Given the description of an element on the screen output the (x, y) to click on. 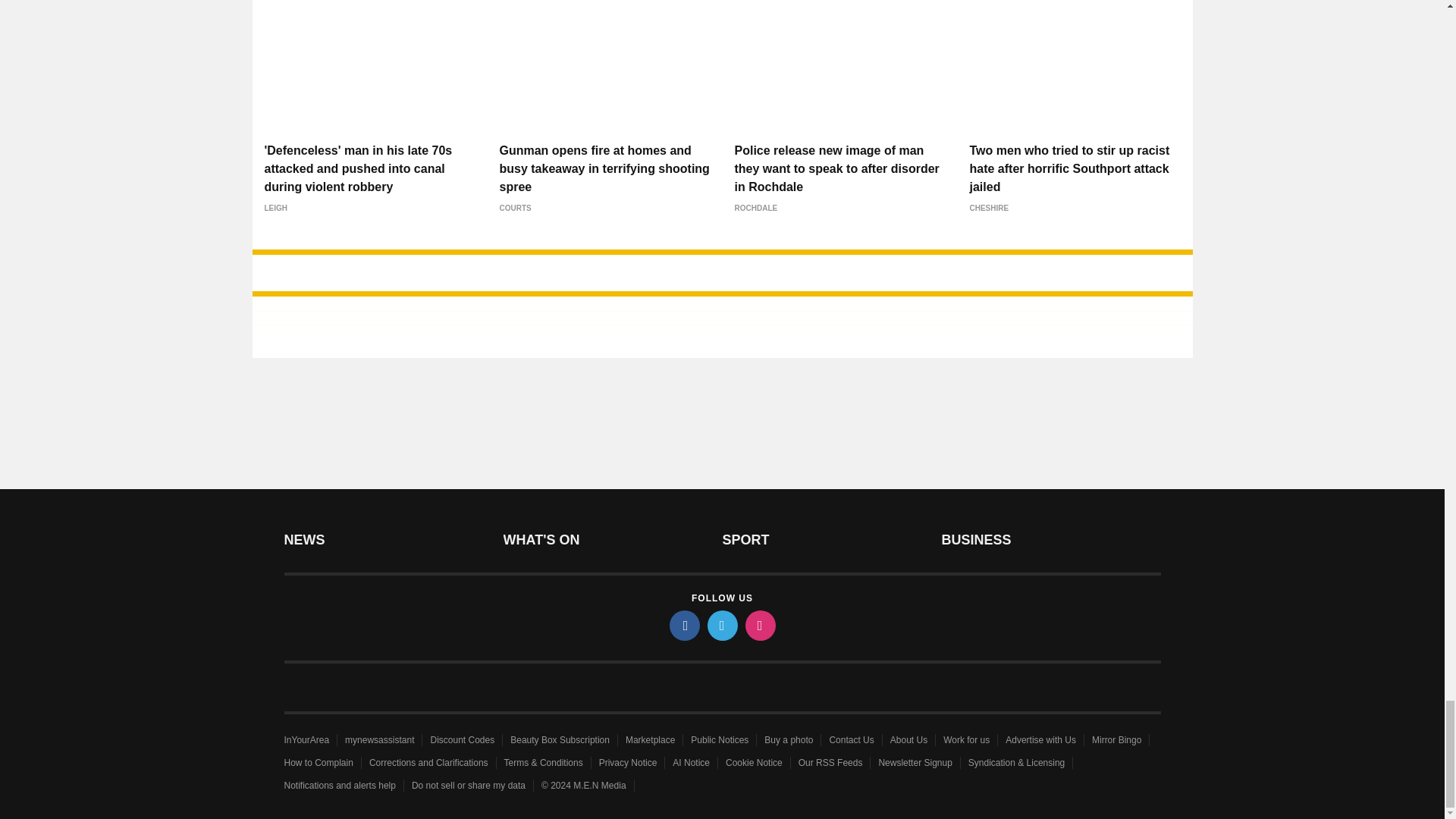
twitter (721, 625)
facebook (683, 625)
instagram (759, 625)
